Given the description of an element on the screen output the (x, y) to click on. 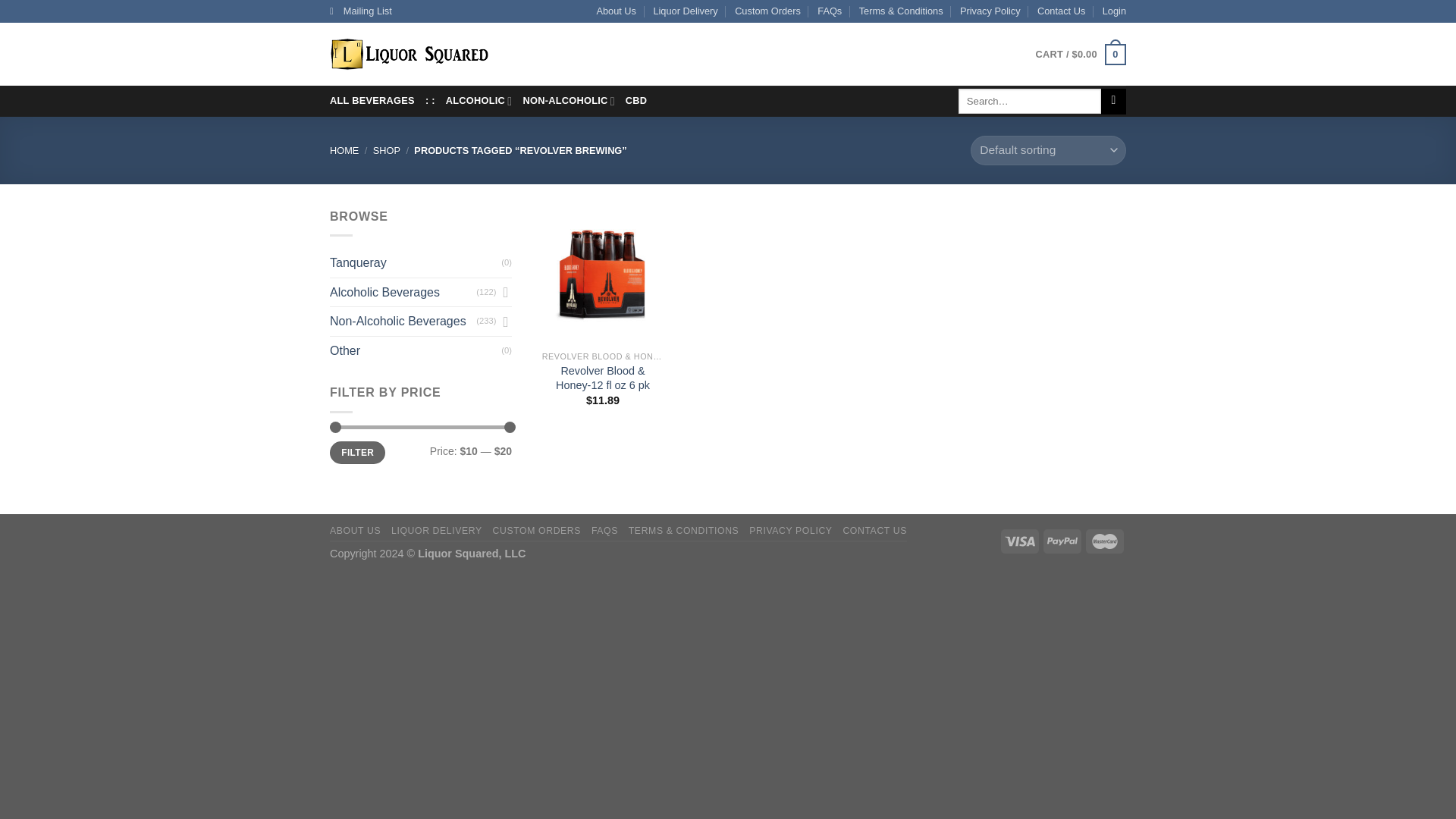
NON-ALCOHOLIC (568, 100)
Contact Us (1060, 11)
Login (1113, 11)
About Us (615, 11)
Liquor Delivery (684, 11)
ALL BEVERAGES (372, 100)
FAQs (828, 11)
: : (430, 100)
Cart (1080, 54)
Mailing List (360, 11)
Custom Orders (767, 11)
ALCOHOLIC (478, 100)
Privacy Policy (989, 11)
